Given the description of an element on the screen output the (x, y) to click on. 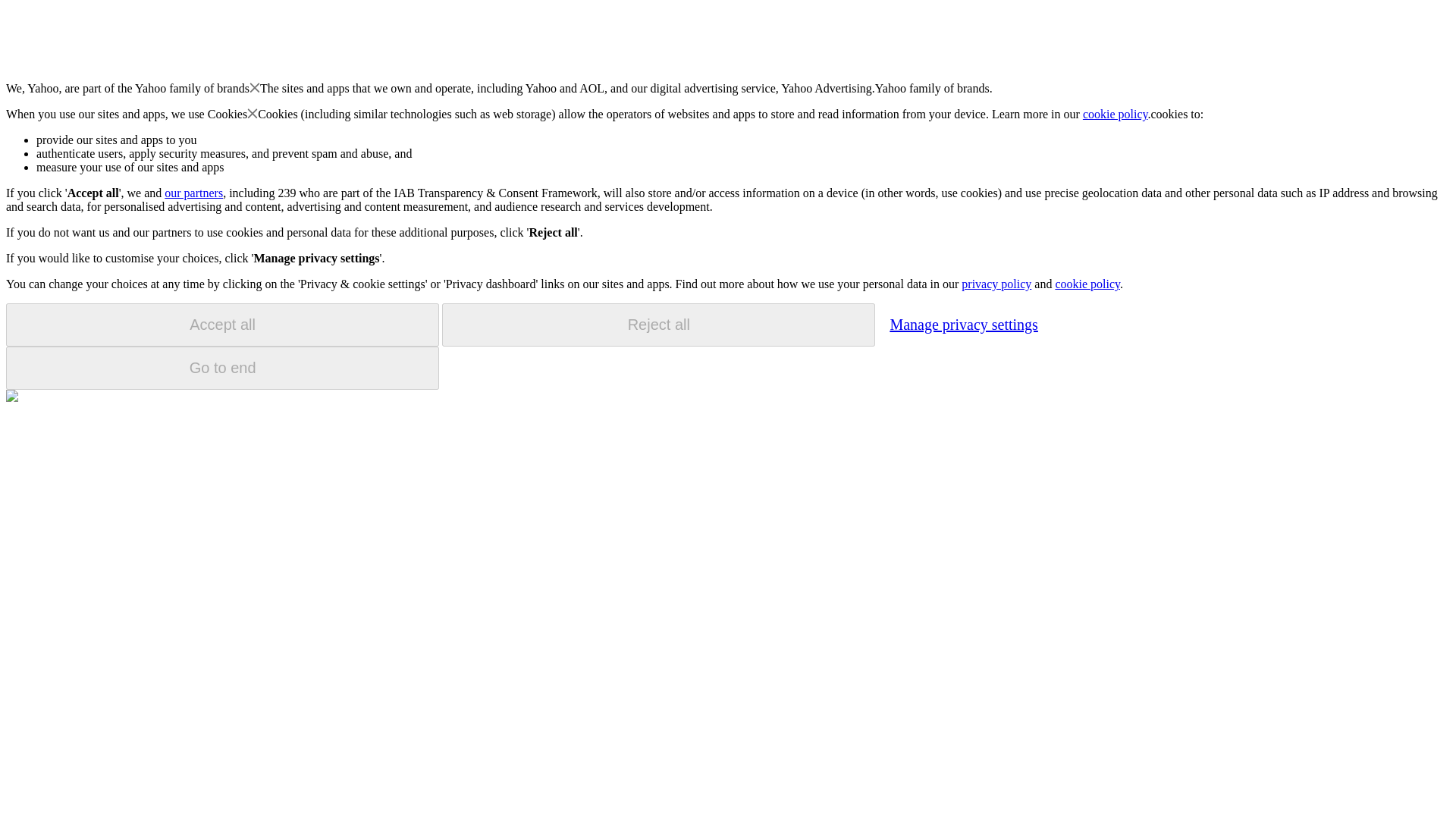
privacy policy (995, 283)
Manage privacy settings (963, 323)
our partners (193, 192)
Reject all (658, 324)
cookie policy (1115, 113)
Go to end (222, 367)
Accept all (222, 324)
cookie policy (1086, 283)
